Given the description of an element on the screen output the (x, y) to click on. 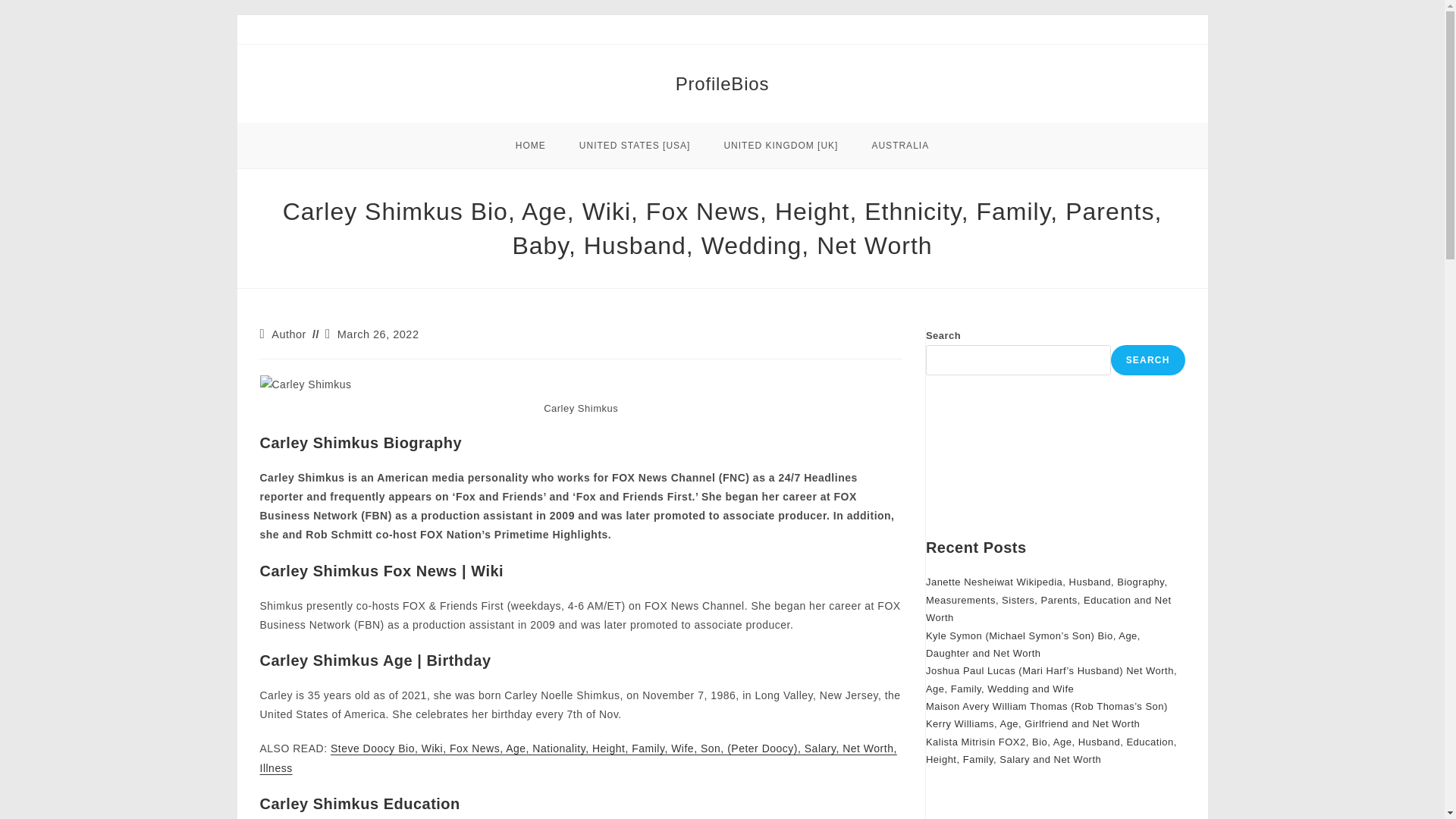
HOME (530, 145)
ProfileBios (722, 83)
Author (287, 334)
Posts by Author (287, 334)
AUSTRALIA (899, 145)
SEARCH (1147, 359)
